Given the description of an element on the screen output the (x, y) to click on. 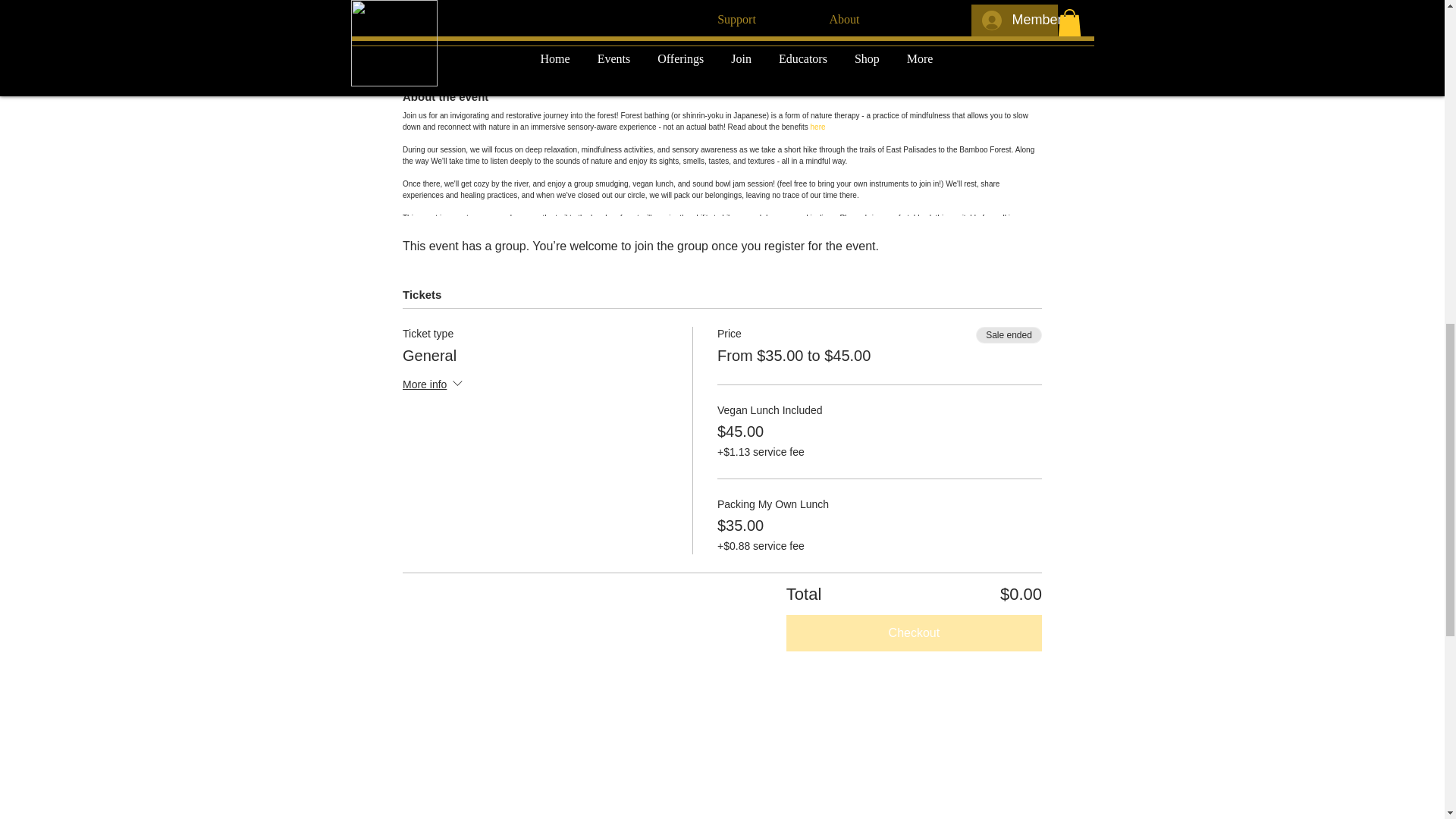
More info (434, 385)
Checkout (914, 633)
here (817, 126)
